Given the description of an element on the screen output the (x, y) to click on. 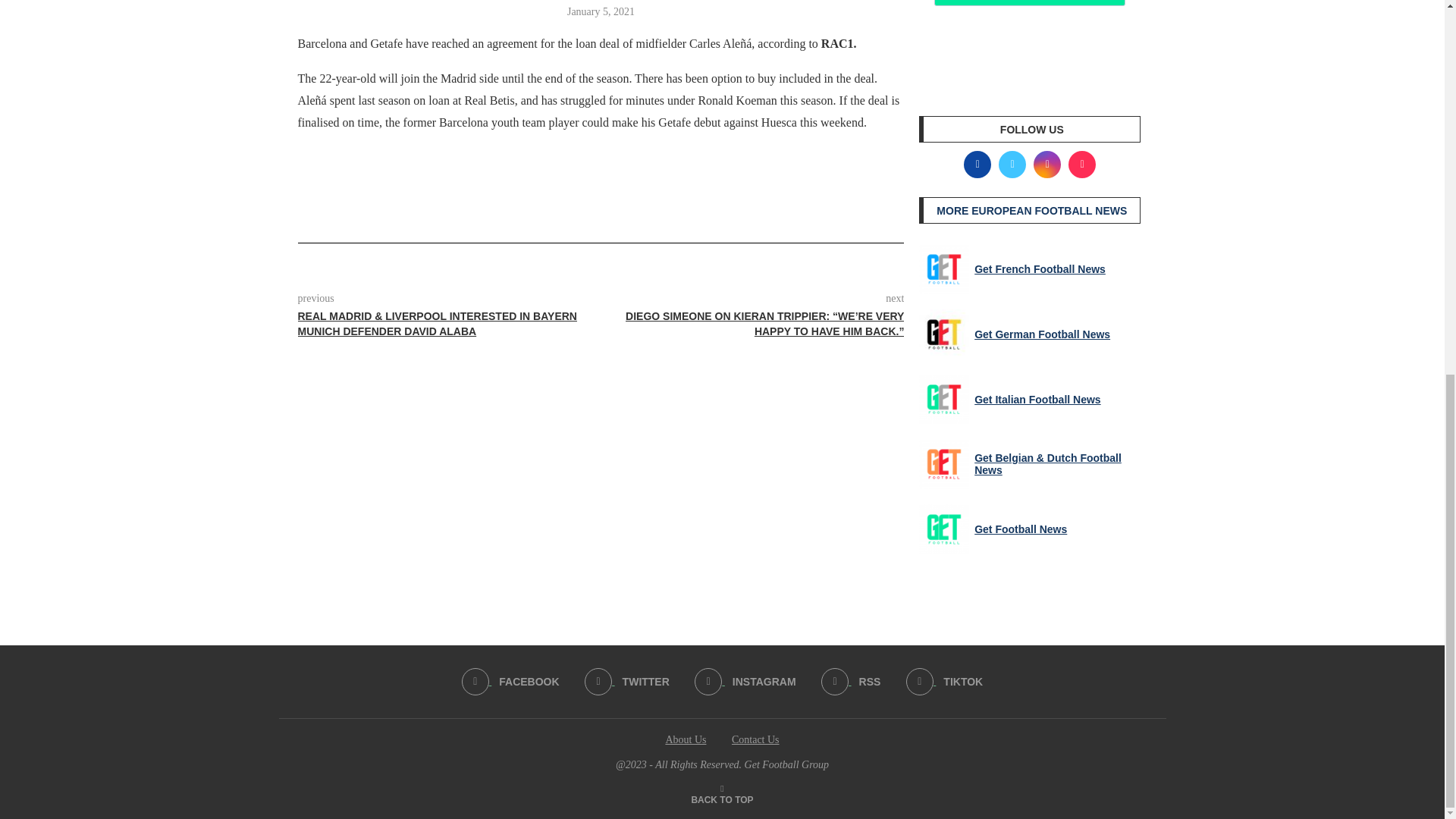
Get Football News (943, 529)
Get French Football News (943, 269)
Get Italian Football News (943, 399)
Get German Football News (943, 334)
